Given the description of an element on the screen output the (x, y) to click on. 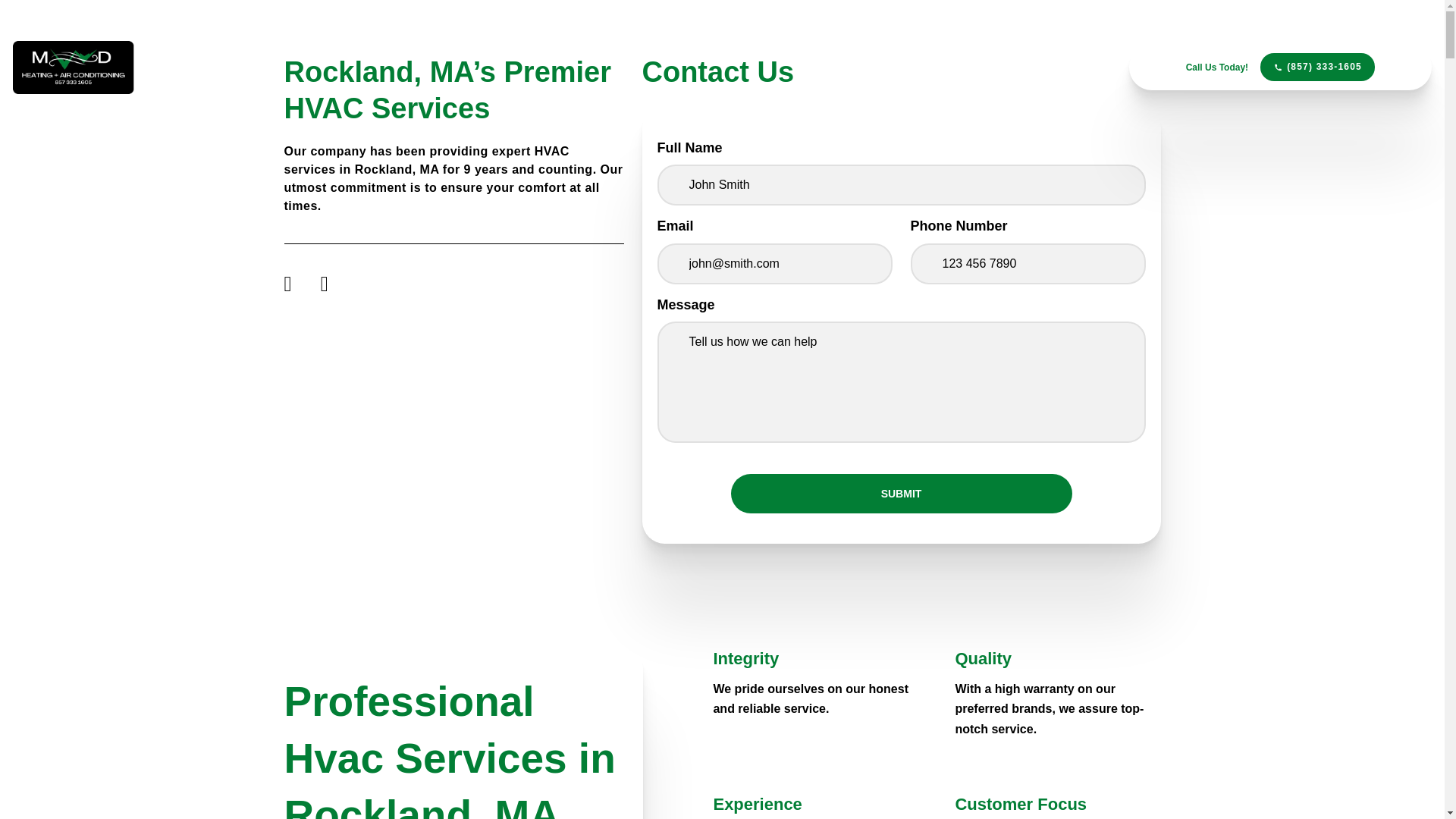
Submit (900, 493)
Submit (900, 493)
Call Us Today! (1216, 67)
